Given the description of an element on the screen output the (x, y) to click on. 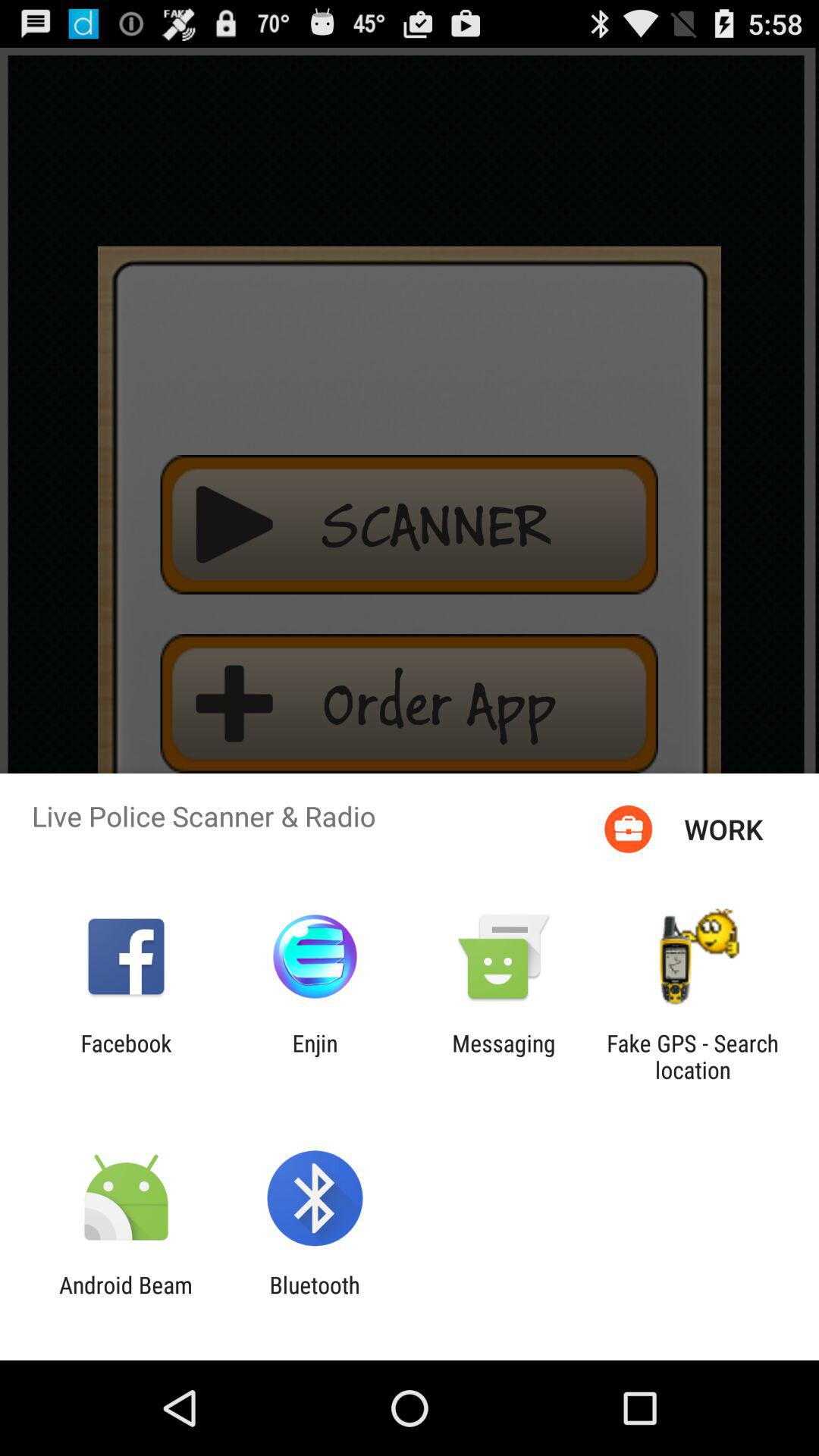
open app to the right of android beam app (314, 1298)
